Given the description of an element on the screen output the (x, y) to click on. 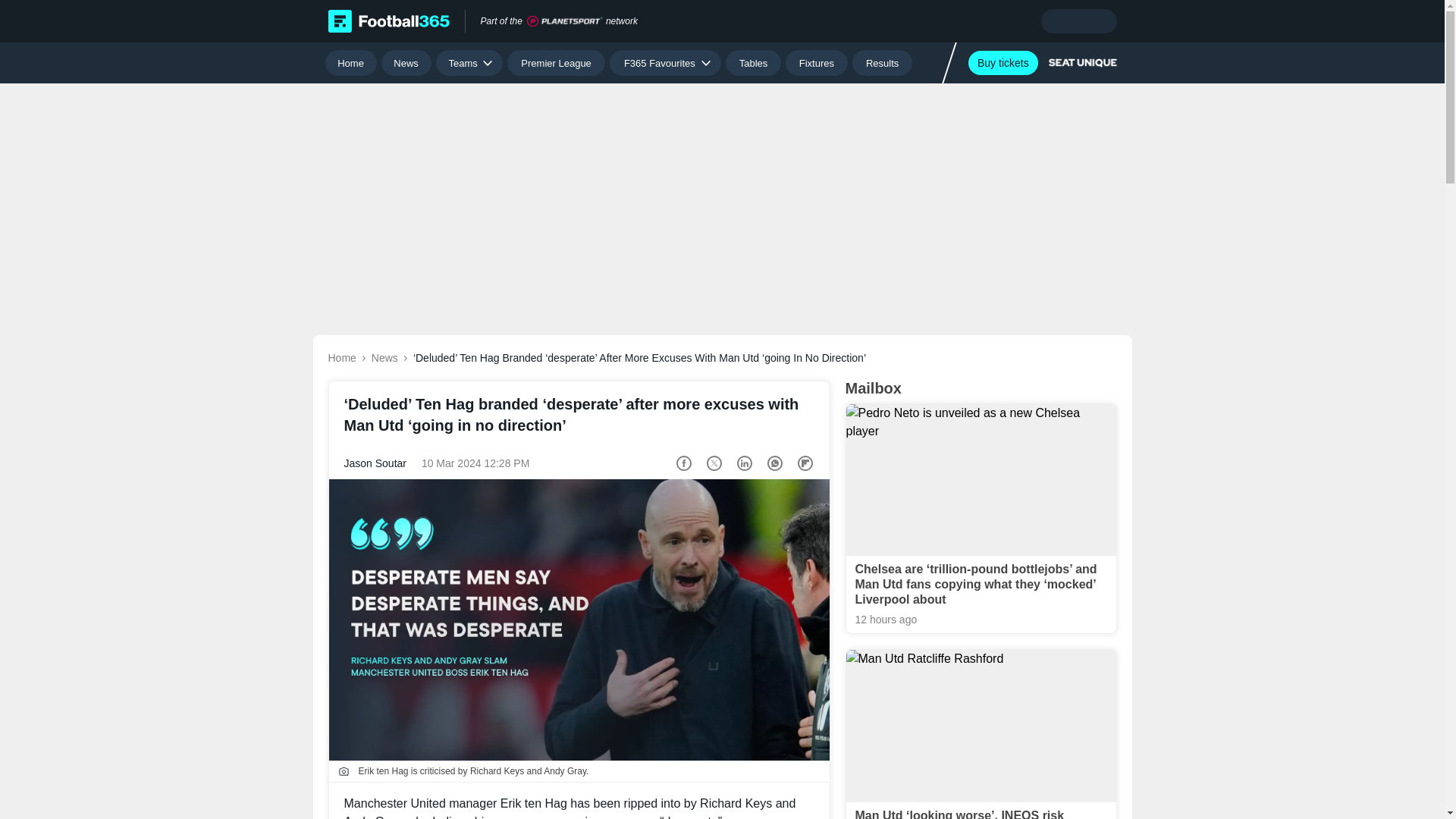
F365 Favourites (665, 62)
Premier League (555, 62)
Fixtures (817, 62)
News (405, 62)
Tables (752, 62)
Home (349, 62)
Teams (468, 62)
